Given the description of an element on the screen output the (x, y) to click on. 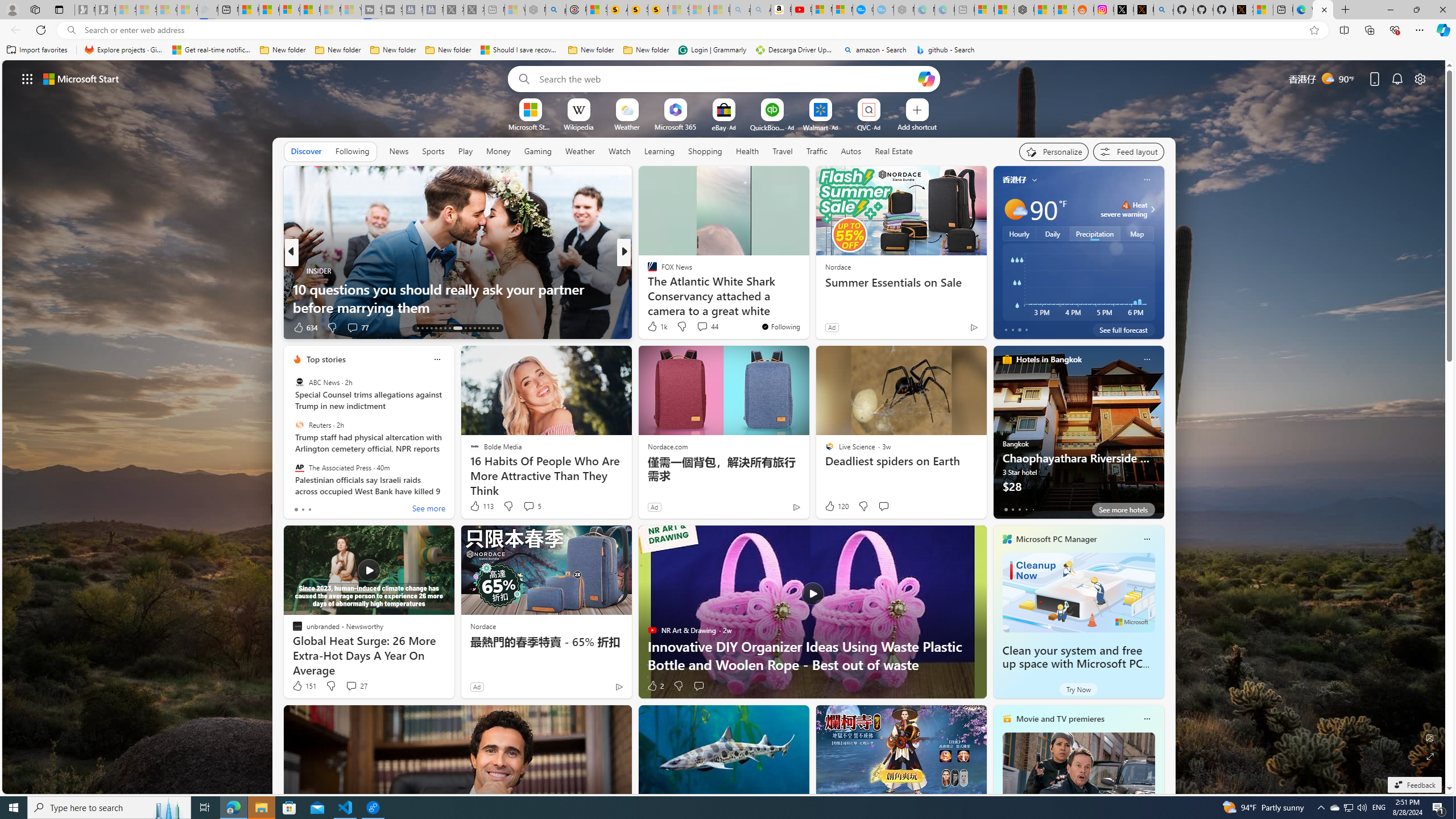
See full forecast (1123, 329)
AutomationID: tab-26 (483, 328)
186 Like (654, 327)
AutomationID: tab-22 (465, 328)
Opinion: Op-Ed and Commentary - USA TODAY (862, 9)
Wildlife - MSN - Sleeping (514, 9)
Autos (850, 151)
My location (1033, 179)
View comments 27 Comment (355, 685)
USA TODAY (647, 270)
92 Like (652, 327)
